Given the description of an element on the screen output the (x, y) to click on. 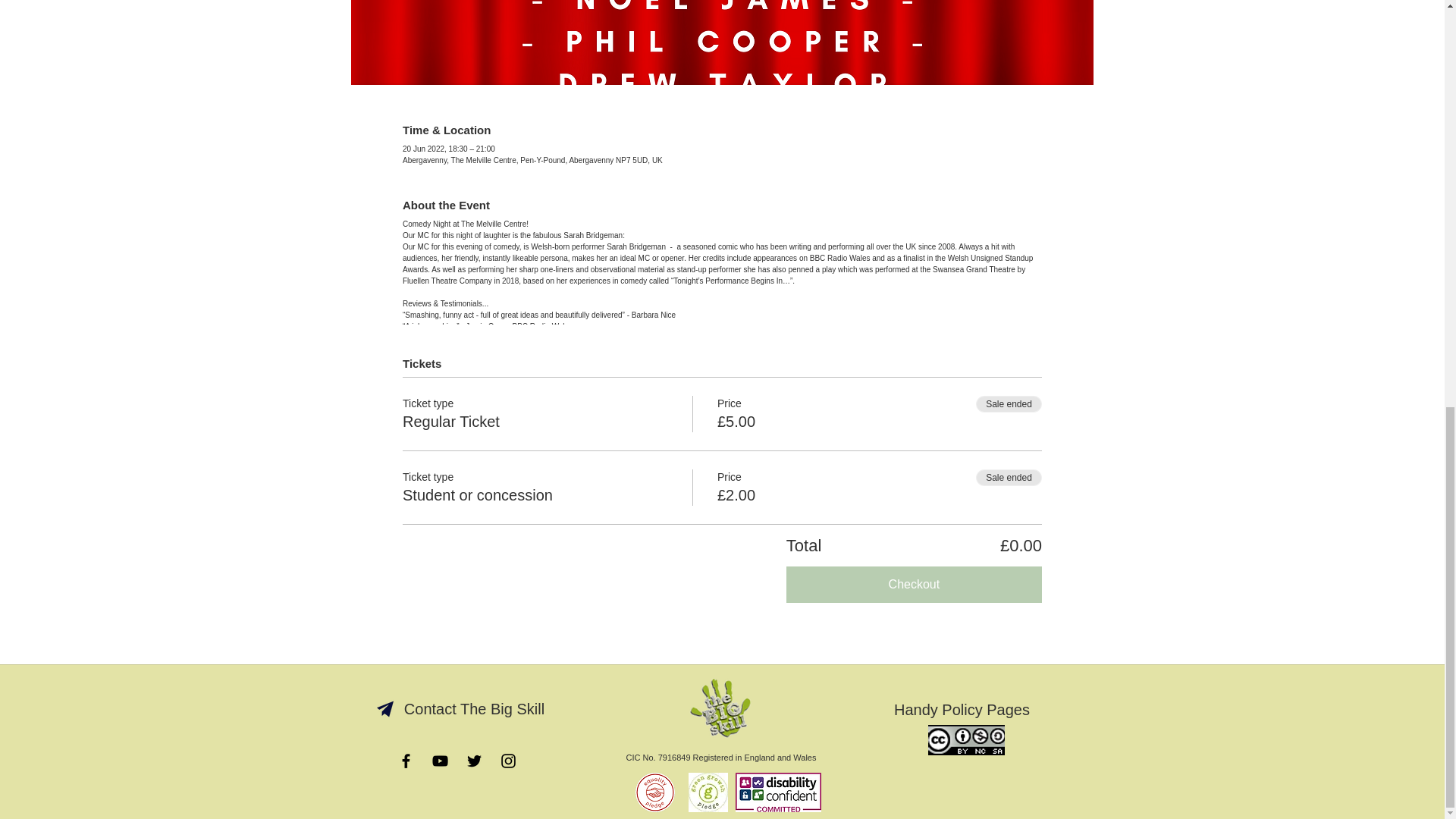
Checkout (914, 584)
Handy Policy Pages (960, 709)
Contact The Big Skill (474, 708)
